Given the description of an element on the screen output the (x, y) to click on. 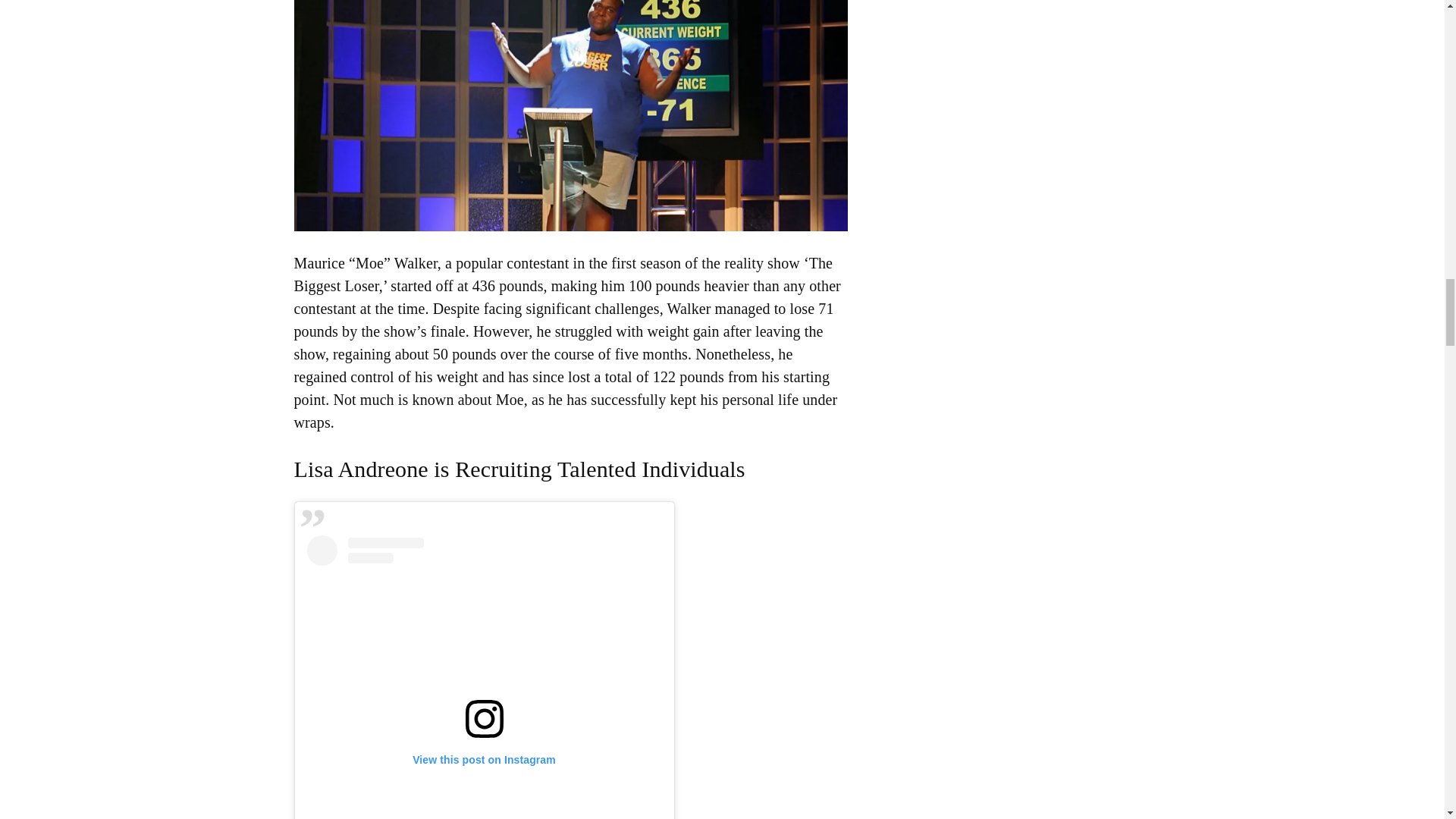
View this post on Instagram (483, 677)
